Given the description of an element on the screen output the (x, y) to click on. 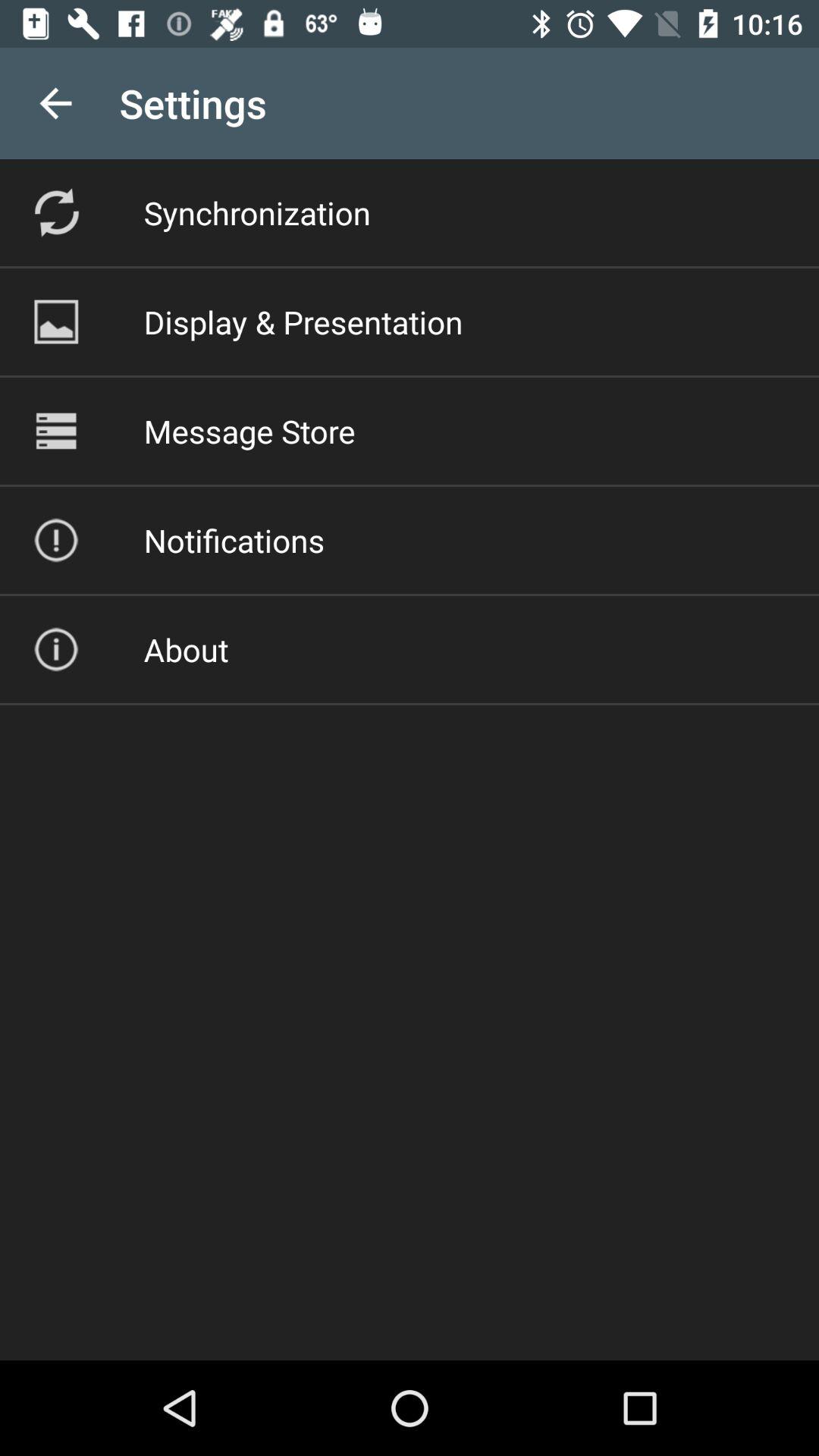
choose the app to the left of settings icon (55, 103)
